Given the description of an element on the screen output the (x, y) to click on. 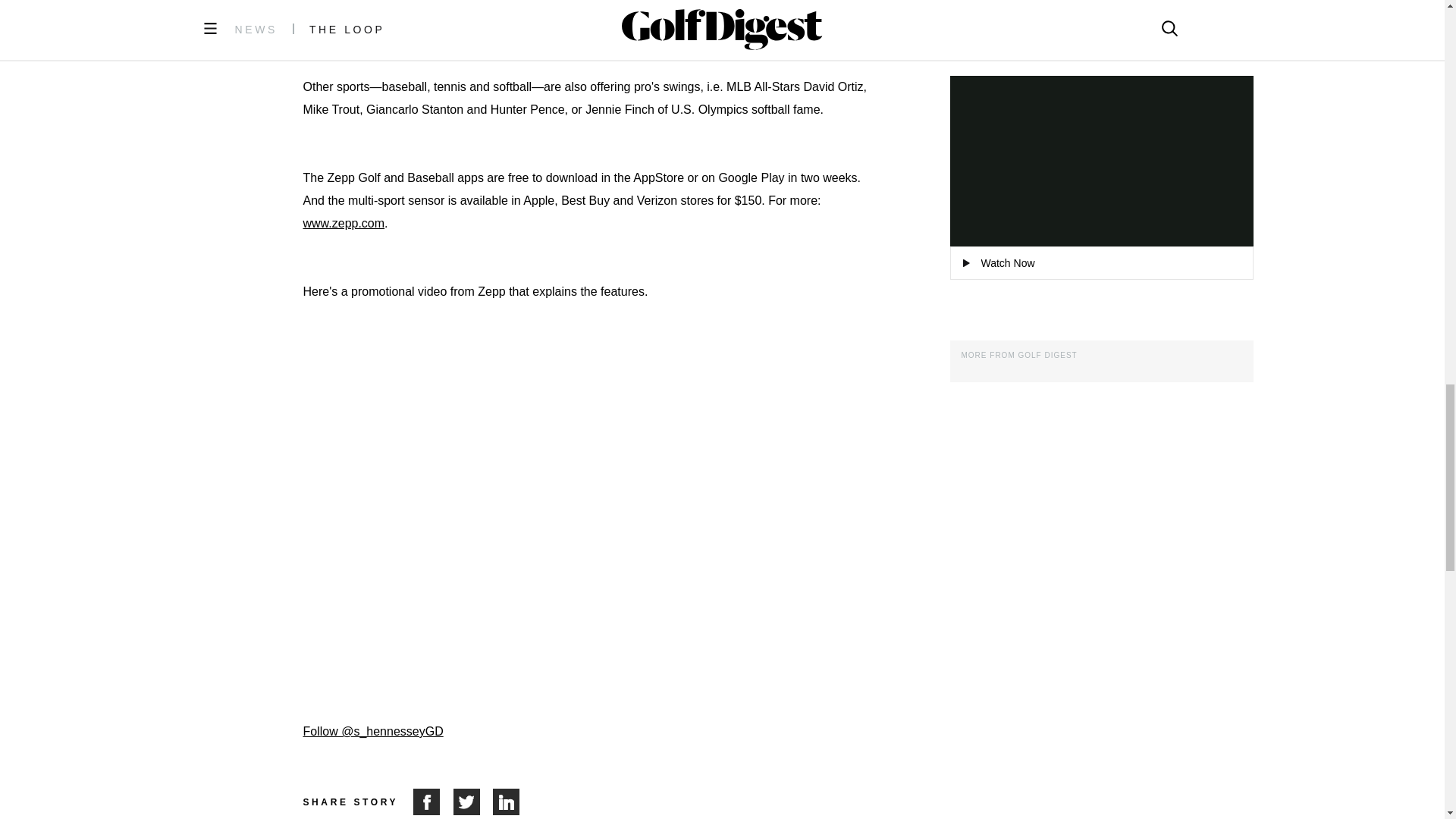
Share on LinkedIn (506, 801)
Share on Twitter (472, 801)
Share on Facebook (432, 801)
